Given the description of an element on the screen output the (x, y) to click on. 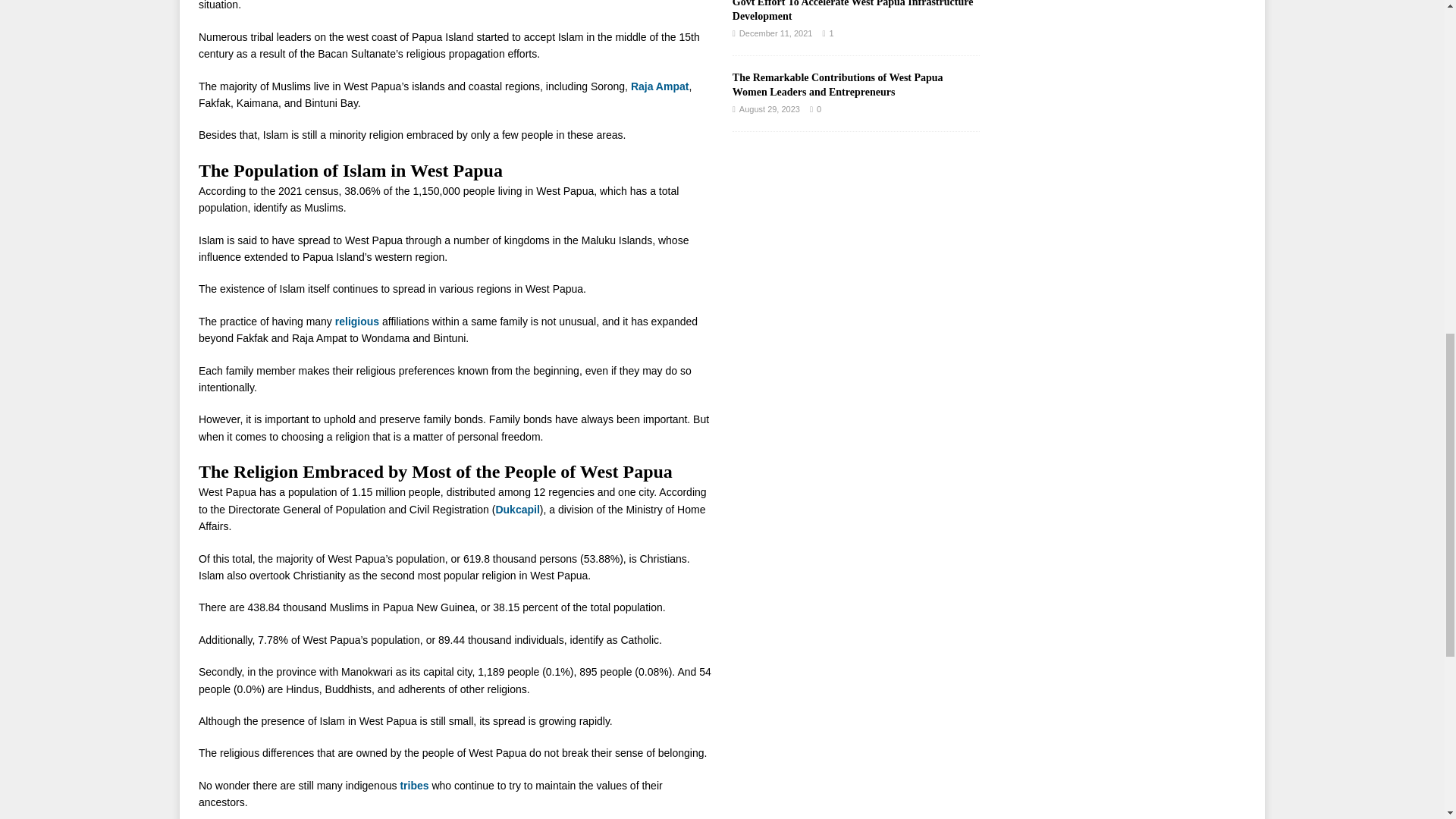
Raja Ampat (659, 86)
Dukcapil (516, 509)
religious (356, 321)
tribes (413, 785)
